Given the description of an element on the screen output the (x, y) to click on. 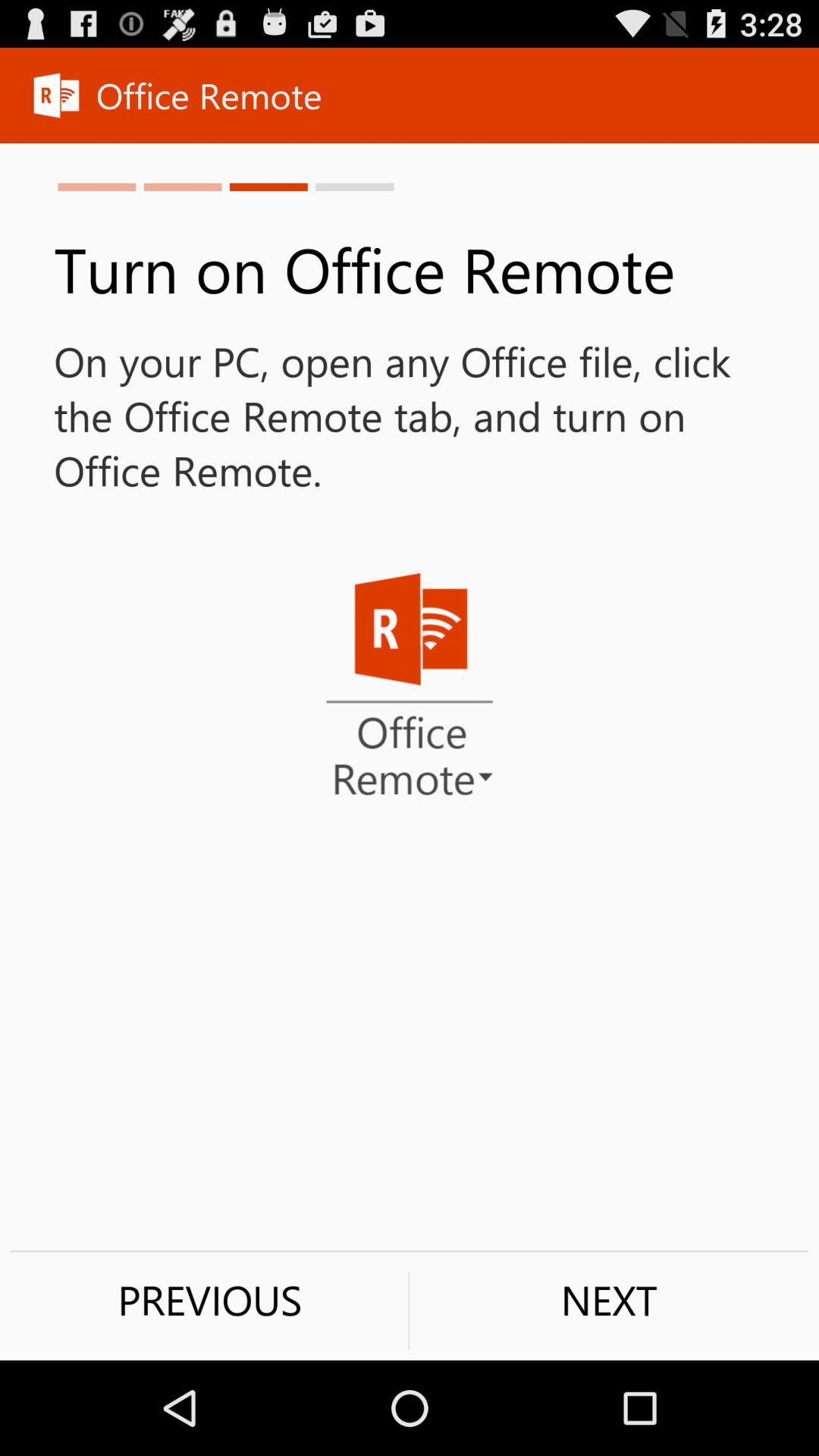
open icon to the right of the previous item (608, 1300)
